Given the description of an element on the screen output the (x, y) to click on. 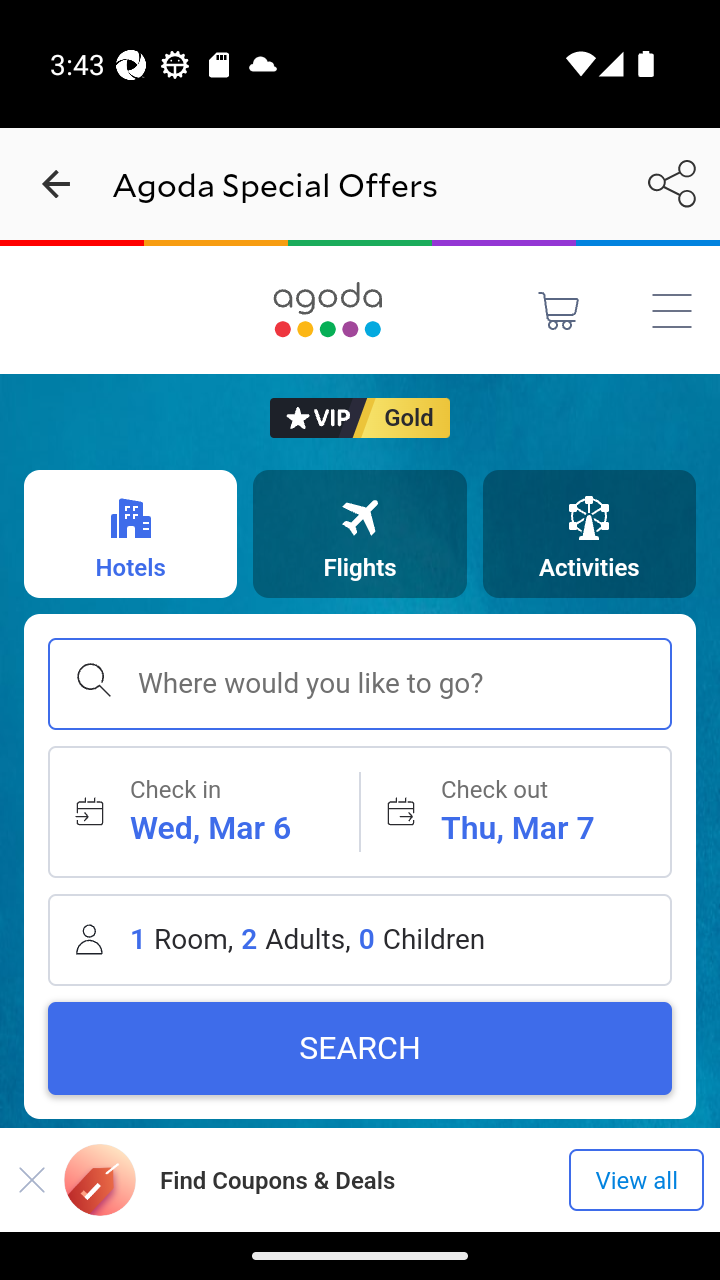
navigation_button (56, 184)
Share (672, 183)
Agoda logo Home link PrimaryLogo (327, 309)
Shopping Cart Button (559, 309)
Hotels (130, 533)
Flights (359, 533)
Activities (588, 533)
Where would you like to go? (359, 684)
Check in Wed, Mar 6 Check out Thu, Mar 7 (359, 811)
1Room,2Adults,0Children (359, 939)
SEARCH (359, 1048)
Find Coupons & Deals View all (360, 1179)
View all (636, 1180)
